Given the description of an element on the screen output the (x, y) to click on. 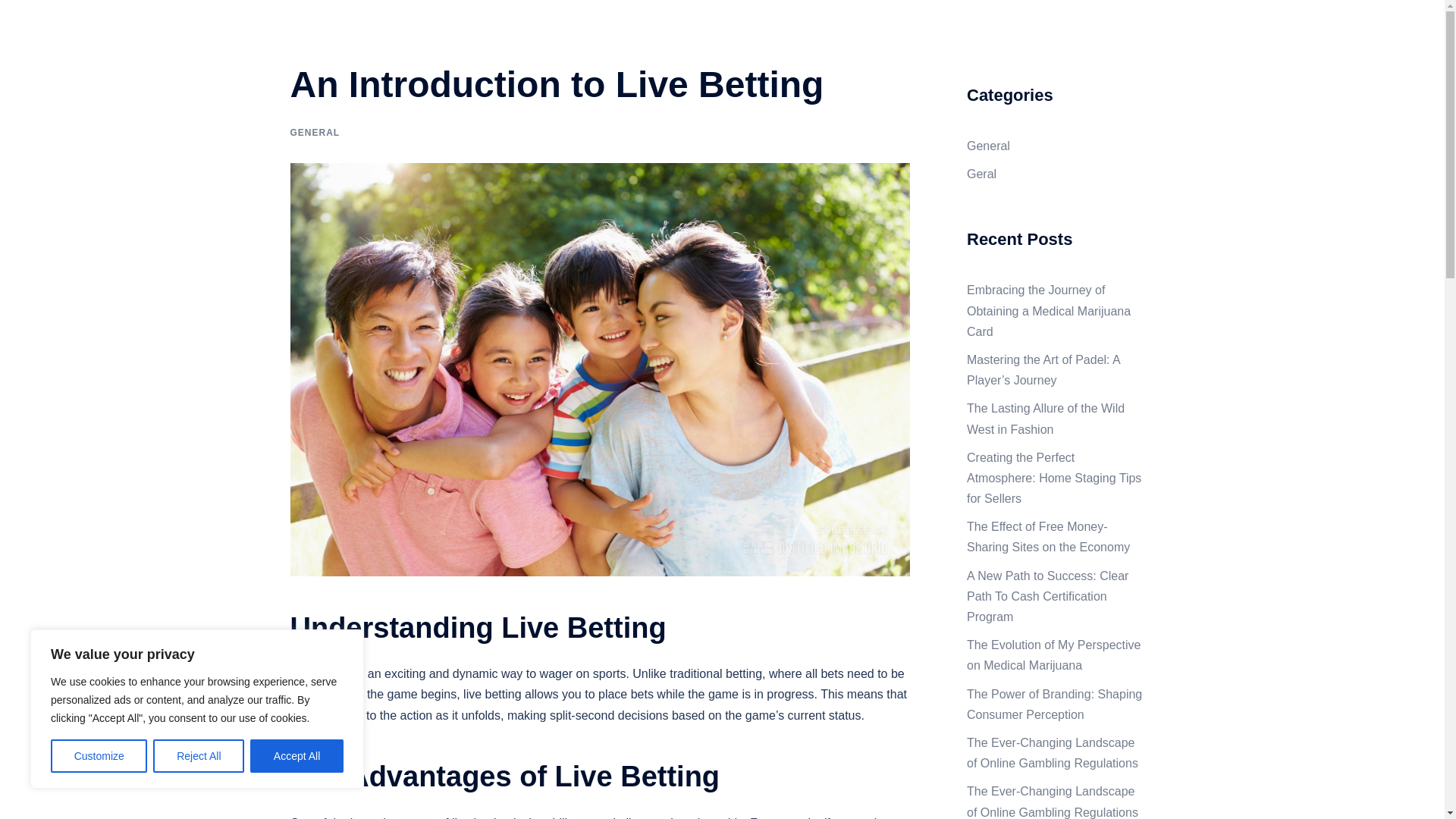
General (988, 145)
Geral (980, 173)
The Power of Branding: Shaping Consumer Perception (1053, 704)
Embracing the Journey of Obtaining a Medical Marijuana Card (1048, 310)
Mila Light Blog (376, 29)
The Ever-Changing Landscape of Online Gambling Regulations (1052, 752)
The Lasting Allure of the Wild West in Fashion (1045, 418)
The Evolution of My Perspective on Medical Marijuana (1053, 654)
Reject All (198, 756)
The Effect of Free Money-Sharing Sites on the Economy (1047, 536)
General (1125, 38)
Home (1070, 38)
GENERAL (314, 132)
